Given the description of an element on the screen output the (x, y) to click on. 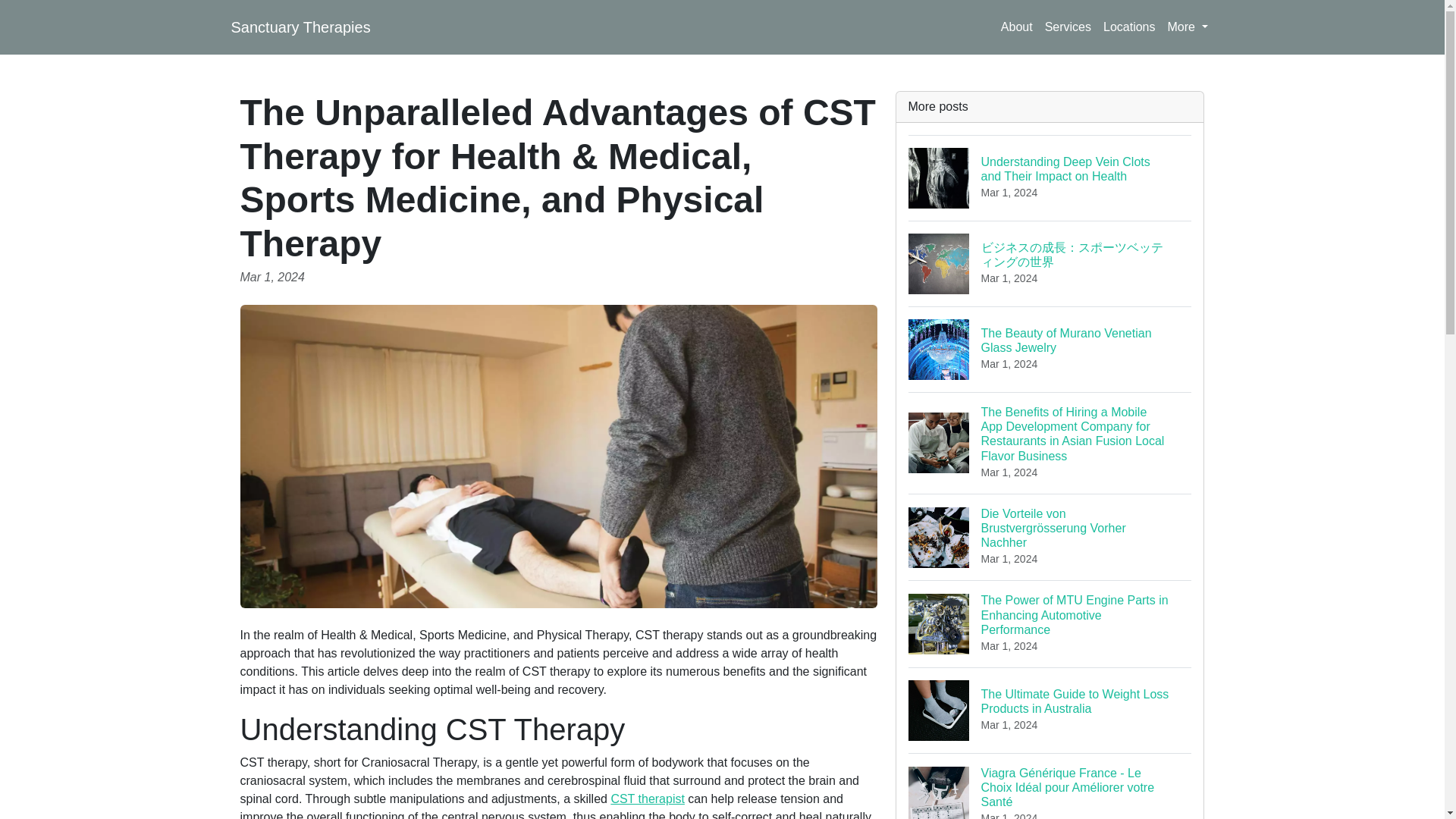
Sanctuary Therapies (299, 27)
CST therapist (1050, 349)
More (647, 798)
Services (1187, 27)
About (1068, 27)
Locations (1016, 27)
